Given the description of an element on the screen output the (x, y) to click on. 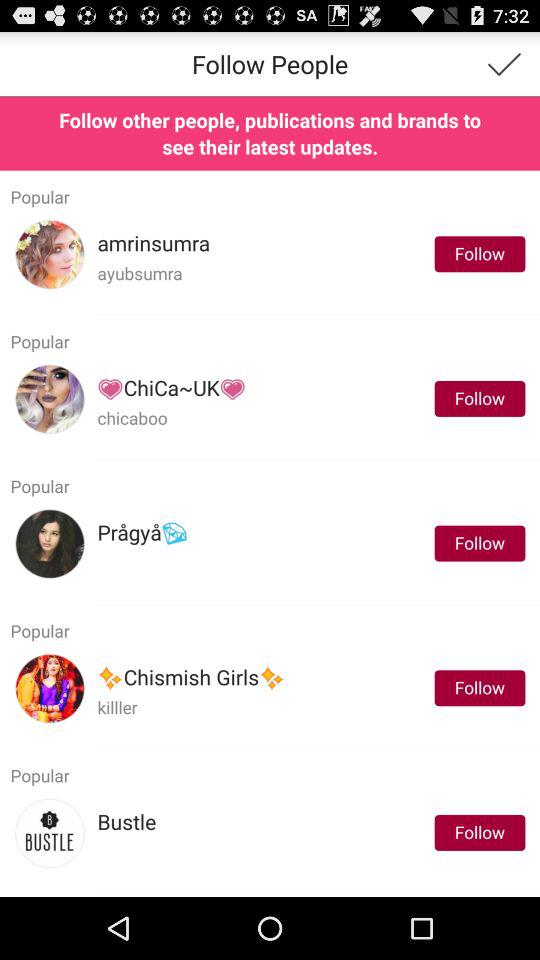
select icon next to the follow item (191, 677)
